Given the description of an element on the screen output the (x, y) to click on. 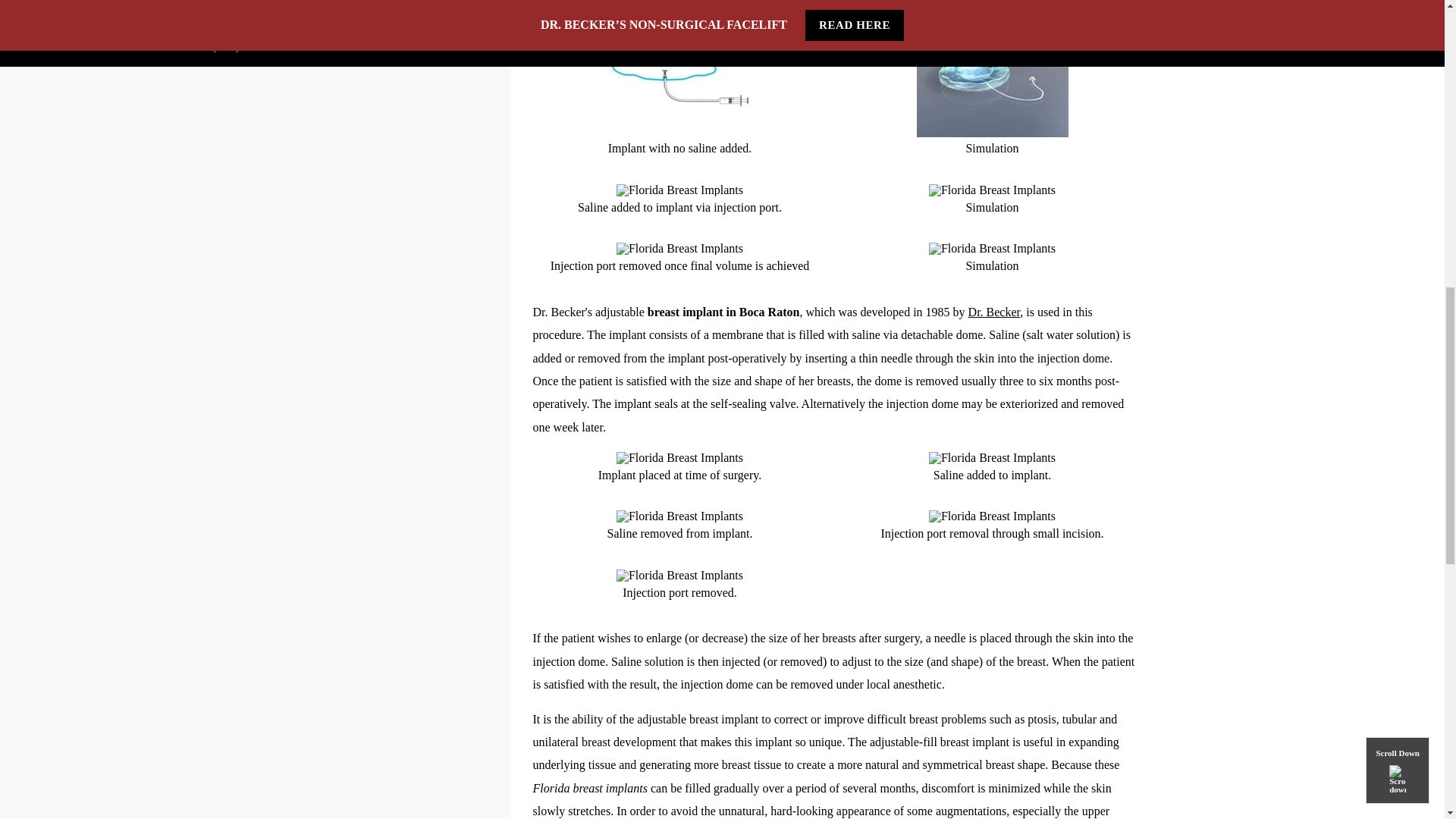
adjust02 (678, 190)
adjust03 (678, 248)
adjust05 (991, 190)
adjust06 (991, 248)
adjust04 (991, 80)
adjust01 (679, 80)
